Given the description of an element on the screen output the (x, y) to click on. 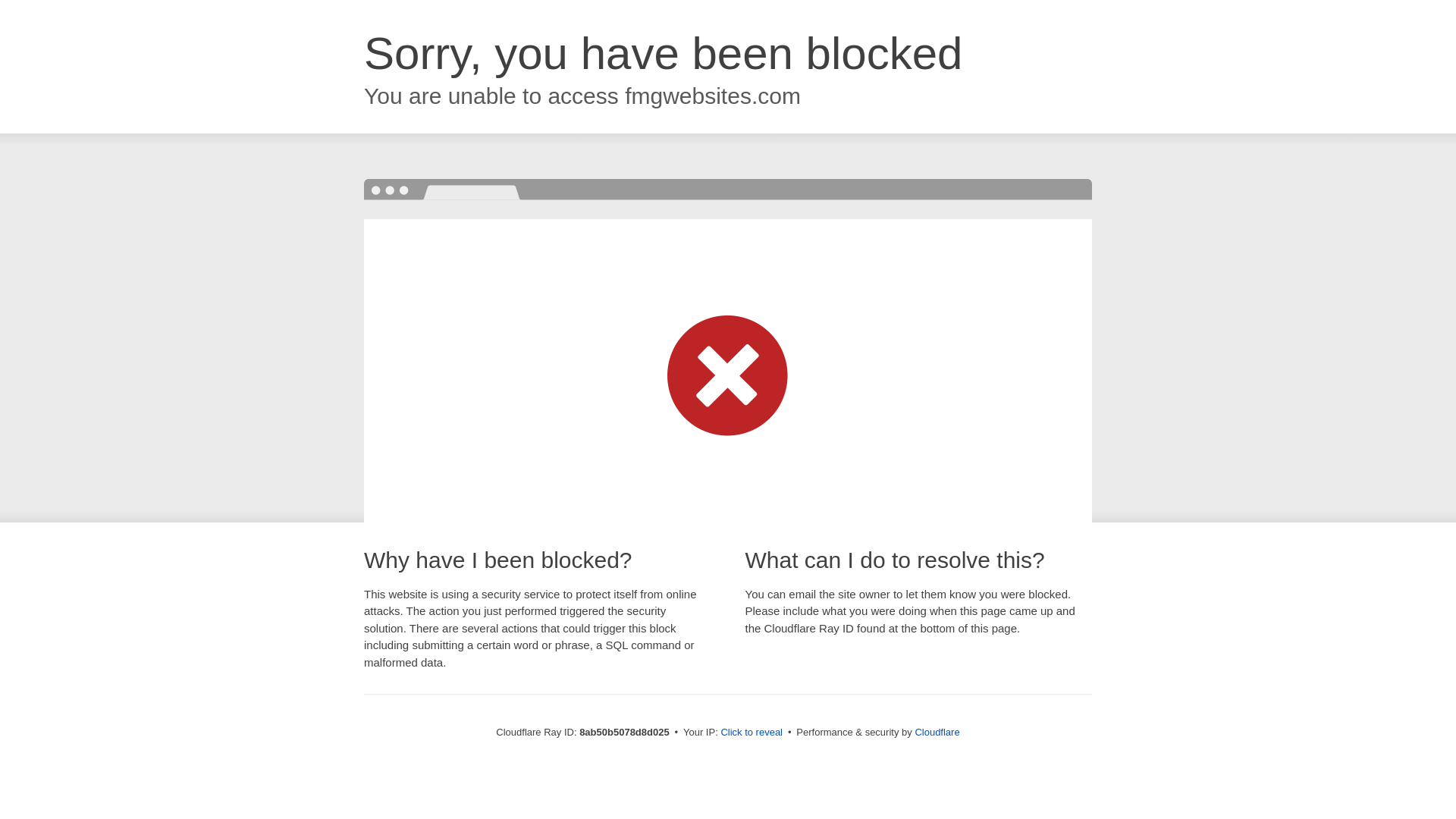
Click to reveal (751, 732)
Cloudflare (936, 731)
